Given the description of an element on the screen output the (x, y) to click on. 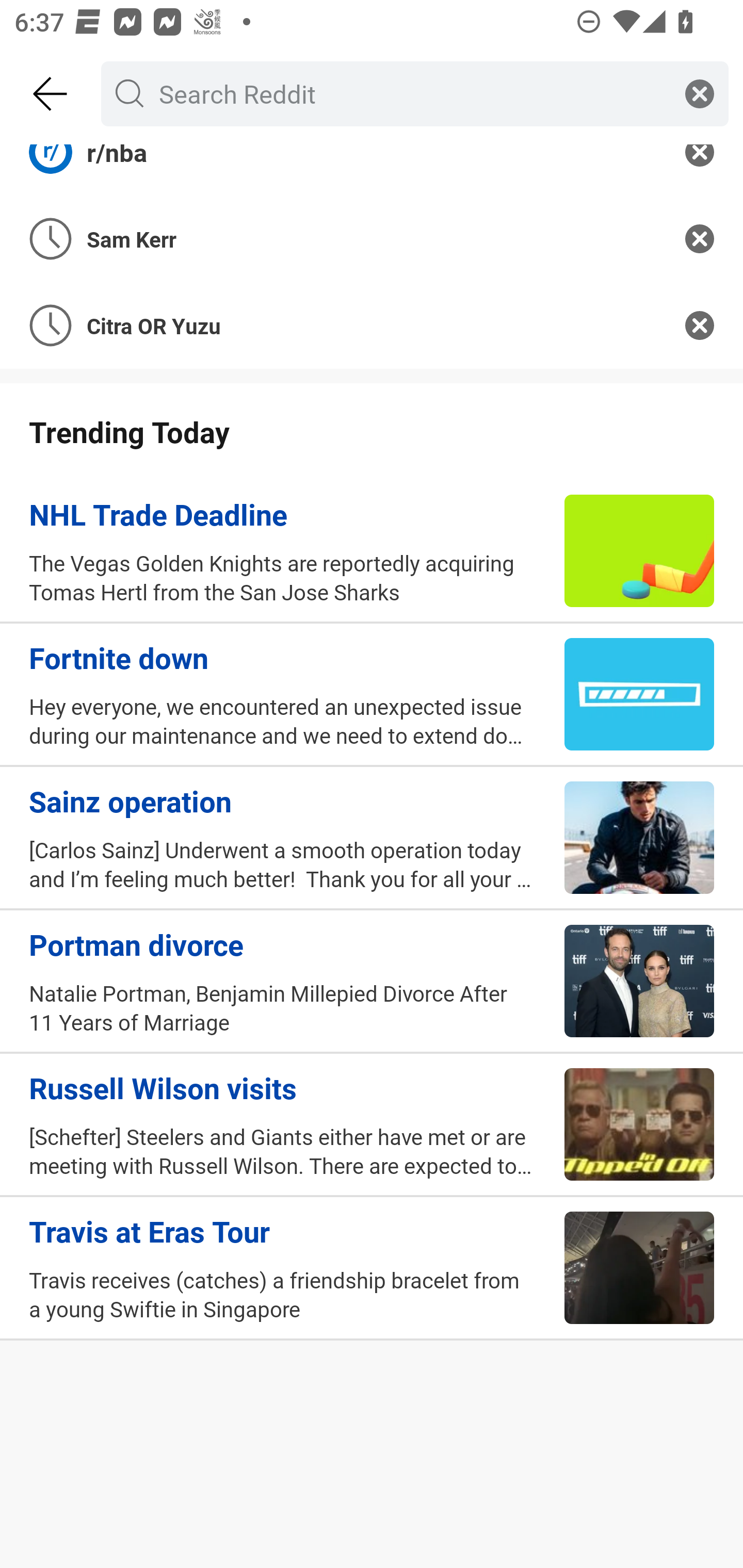
Back (50, 93)
Search Reddit (410, 93)
Clear search (699, 93)
r/nba Recent search: r/nba Remove (371, 170)
Remove (699, 170)
Sam Kerr Recent search: Sam Kerr Remove (371, 239)
Remove (699, 239)
Citra OR Yuzu Recent search: Citra OR Yuzu Remove (371, 325)
Remove (699, 325)
